Given the description of an element on the screen output the (x, y) to click on. 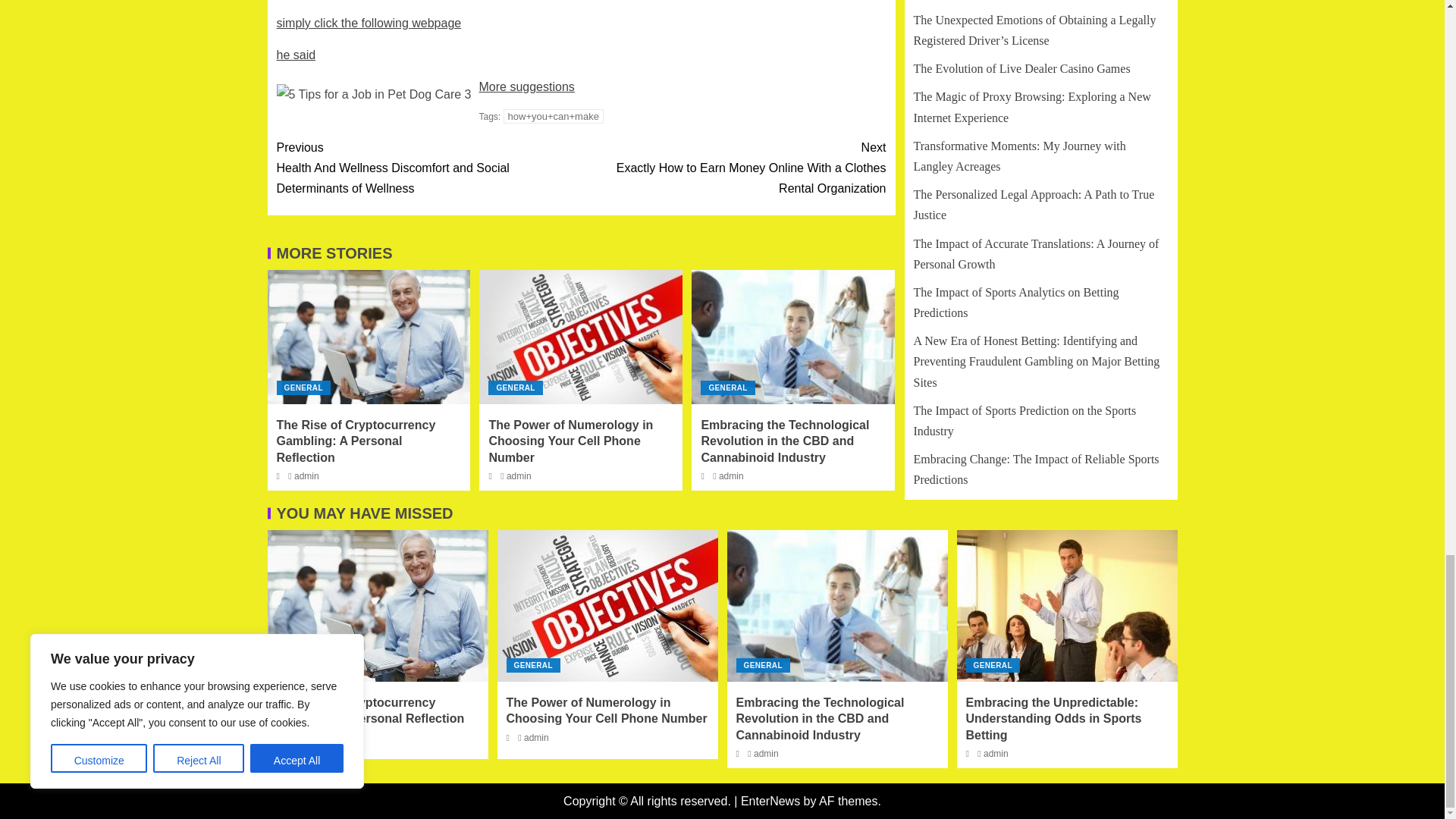
he said (295, 54)
simply click the following webpage (368, 22)
More suggestions (527, 86)
